Given the description of an element on the screen output the (x, y) to click on. 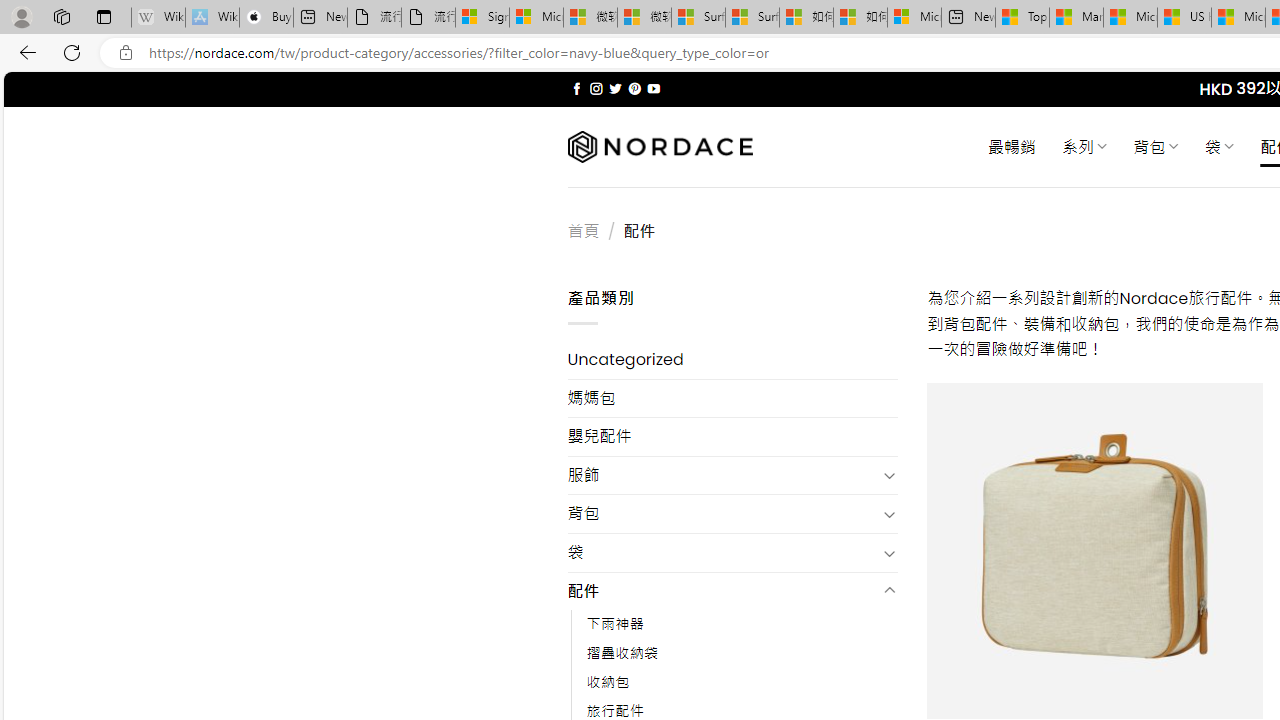
Microsoft account | Account Checkup (914, 17)
US Heat Deaths Soared To Record High Last Year (1184, 17)
Follow on Pinterest (634, 88)
